Given the description of an element on the screen output the (x, y) to click on. 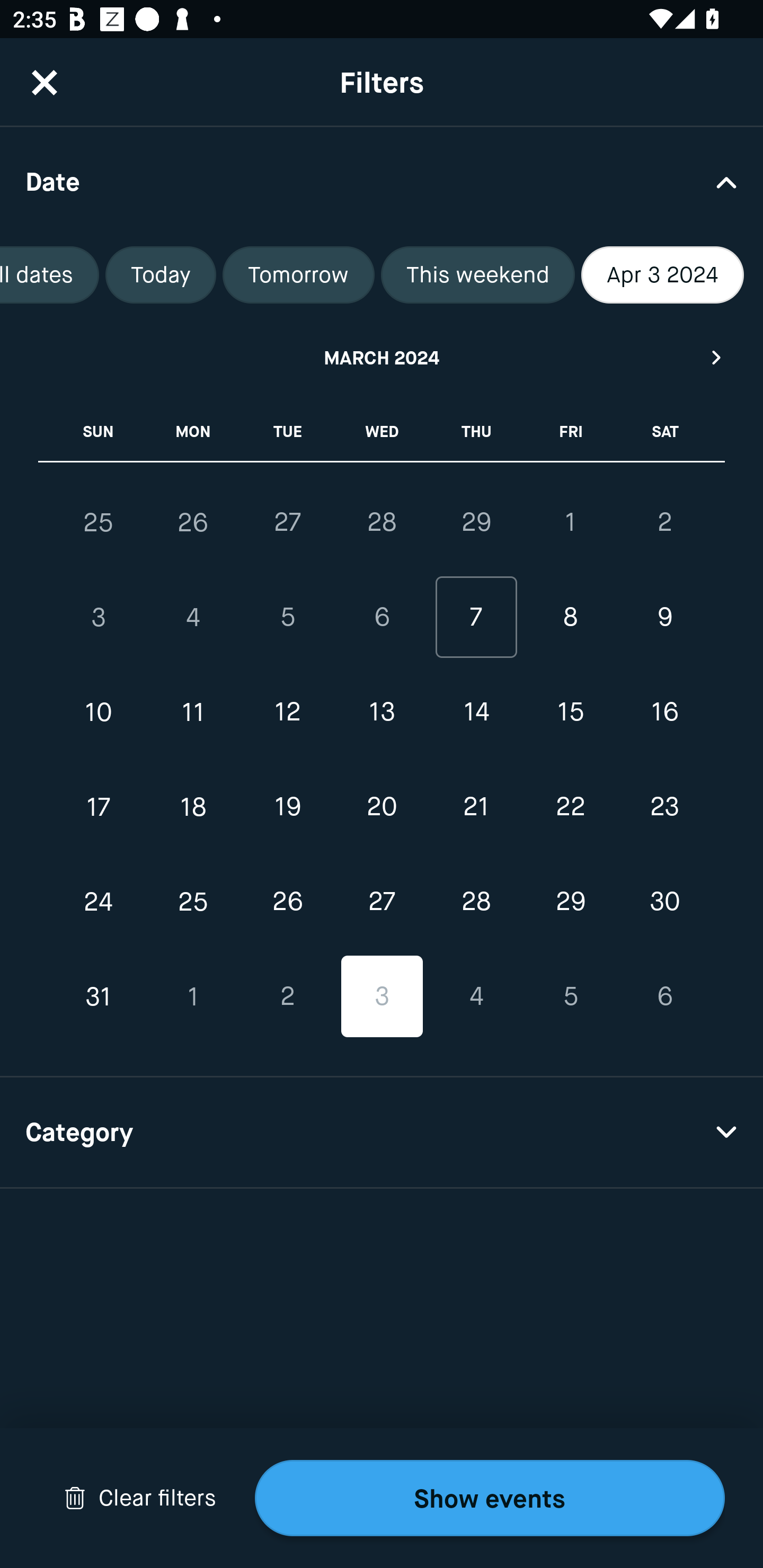
CloseButton (44, 82)
Date Drop Down Arrow (381, 181)
Today (160, 274)
Tomorrow (298, 274)
This weekend (477, 274)
Apr 3 2024 (662, 274)
Next (717, 357)
25 (98, 522)
26 (192, 522)
27 (287, 522)
28 (381, 522)
29 (475, 522)
1 (570, 522)
2 (664, 522)
3 (98, 617)
4 (192, 617)
5 (287, 617)
6 (381, 617)
7 (475, 617)
8 (570, 617)
9 (664, 617)
10 (98, 711)
11 (192, 711)
12 (287, 711)
13 (381, 711)
14 (475, 711)
15 (570, 711)
16 (664, 711)
17 (98, 806)
18 (192, 806)
19 (287, 806)
20 (381, 806)
21 (475, 806)
22 (570, 806)
23 (664, 806)
24 (98, 901)
25 (192, 901)
26 (287, 901)
27 (381, 901)
28 (475, 901)
29 (570, 901)
30 (664, 901)
31 (98, 996)
1 (192, 996)
2 (287, 996)
3 (381, 996)
4 (475, 996)
5 (570, 996)
6 (664, 996)
Category Drop Down Arrow (381, 1132)
Drop Down Arrow Clear filters (139, 1497)
Show events (489, 1497)
